Given the description of an element on the screen output the (x, y) to click on. 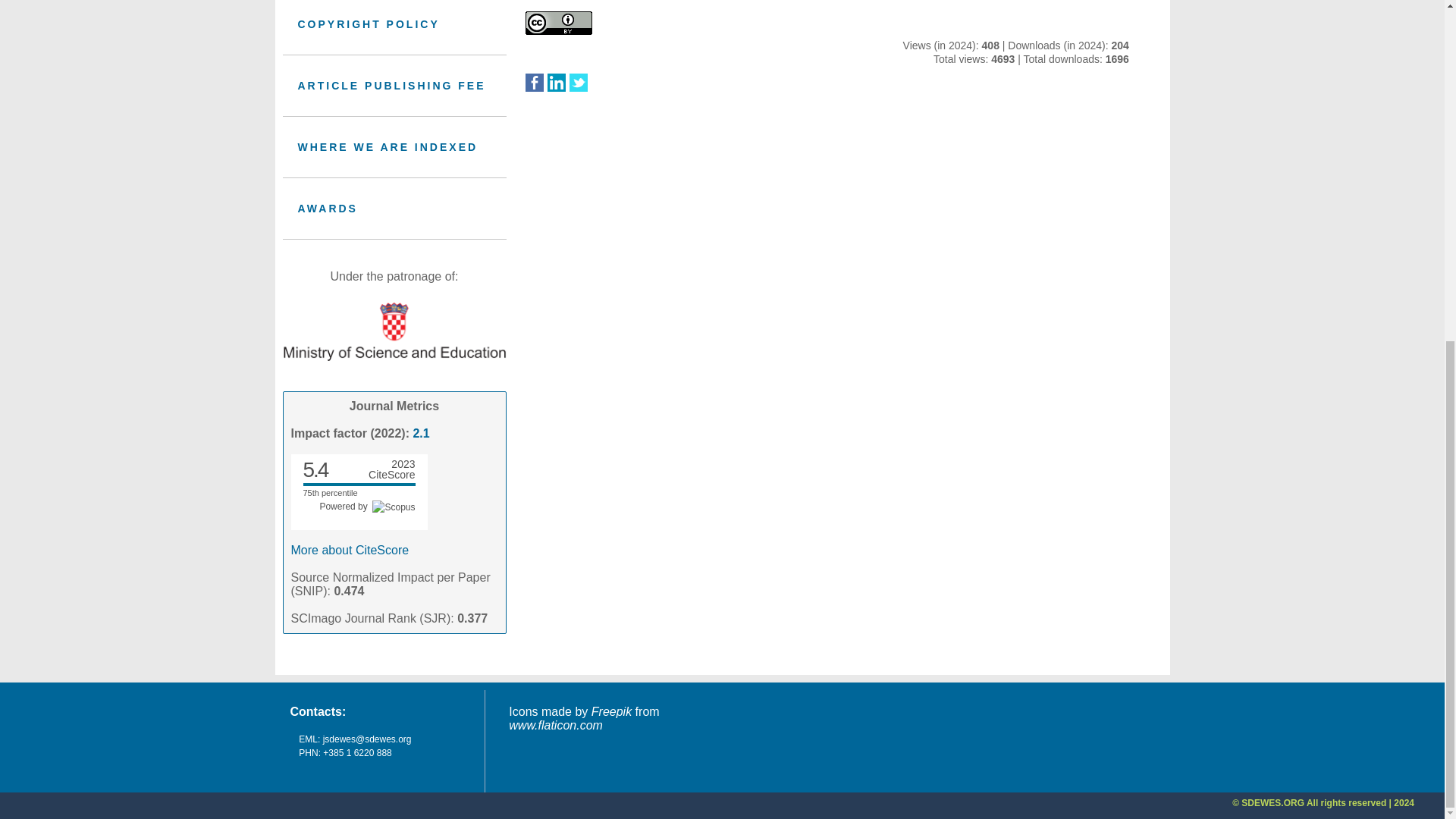
Freepik (611, 711)
Flaticon (555, 725)
